Given the description of an element on the screen output the (x, y) to click on. 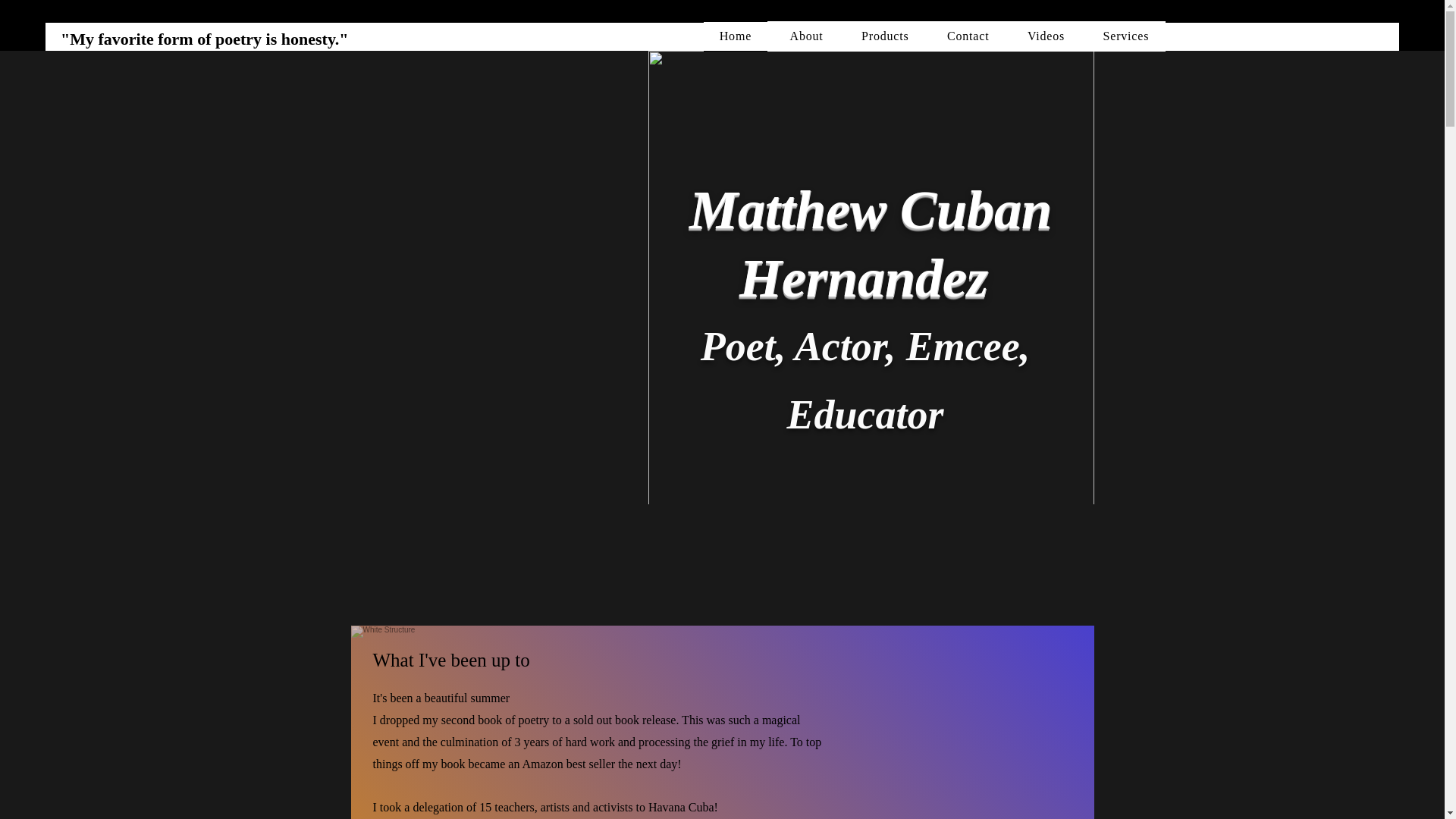
Products (884, 36)
Home (735, 36)
Contact (968, 36)
Services (1125, 36)
About (806, 36)
Videos (1046, 36)
